Given the description of an element on the screen output the (x, y) to click on. 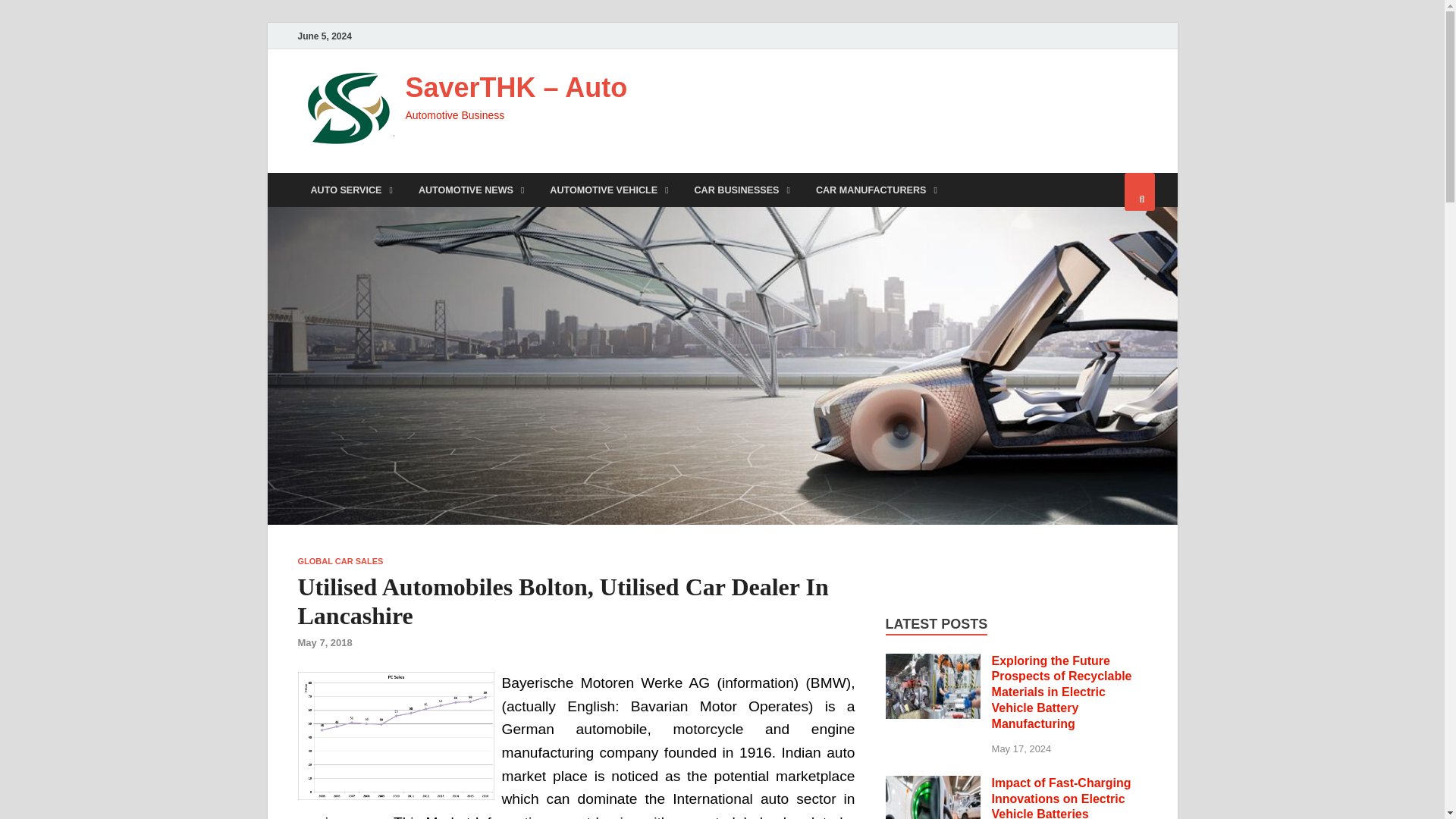
AUTOMOTIVE NEWS (471, 189)
CAR MANUFACTURERS (876, 189)
AUTO SERVICE (350, 189)
CAR BUSINESSES (742, 189)
AUTOMOTIVE VEHICLE (609, 189)
